Given the description of an element on the screen output the (x, y) to click on. 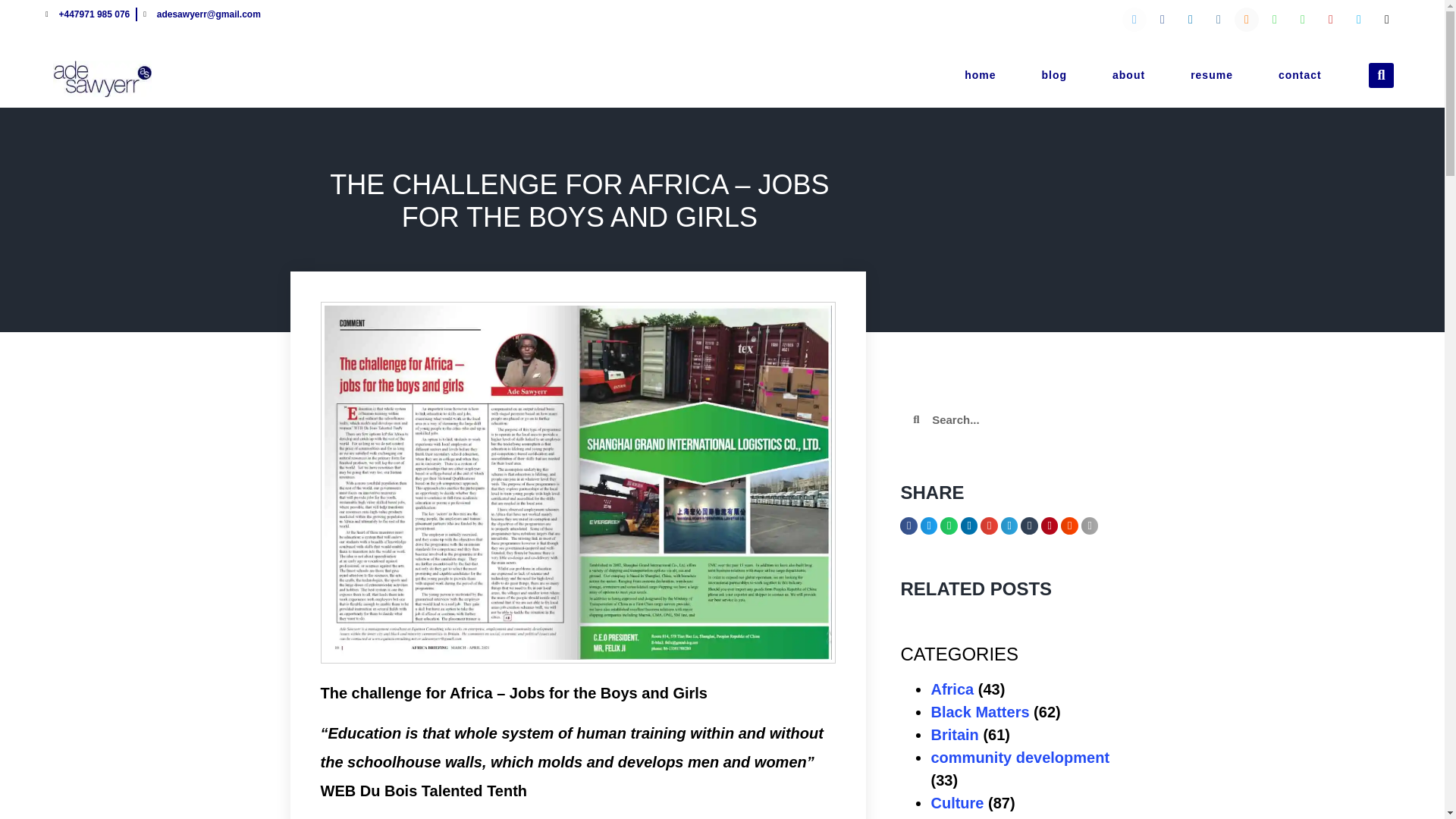
resume (1211, 74)
adesawyerr-logo-1 (101, 78)
about (1128, 74)
blog (1053, 74)
home (979, 74)
contact (1299, 74)
